Given the description of an element on the screen output the (x, y) to click on. 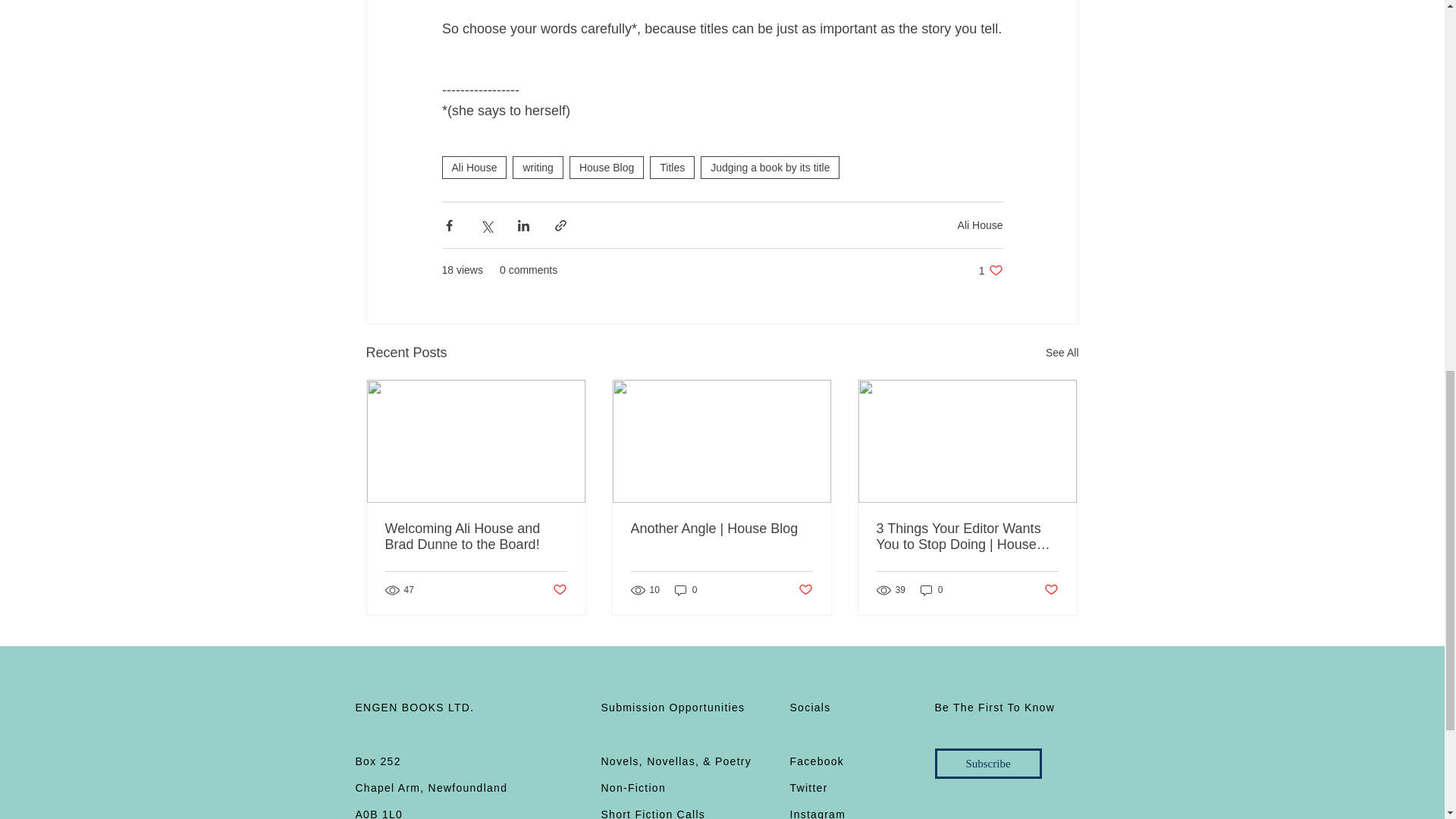
House Blog (606, 167)
Titles (671, 167)
writing (537, 167)
Judging a book by its title (770, 167)
Ali House (473, 167)
